Given the description of an element on the screen output the (x, y) to click on. 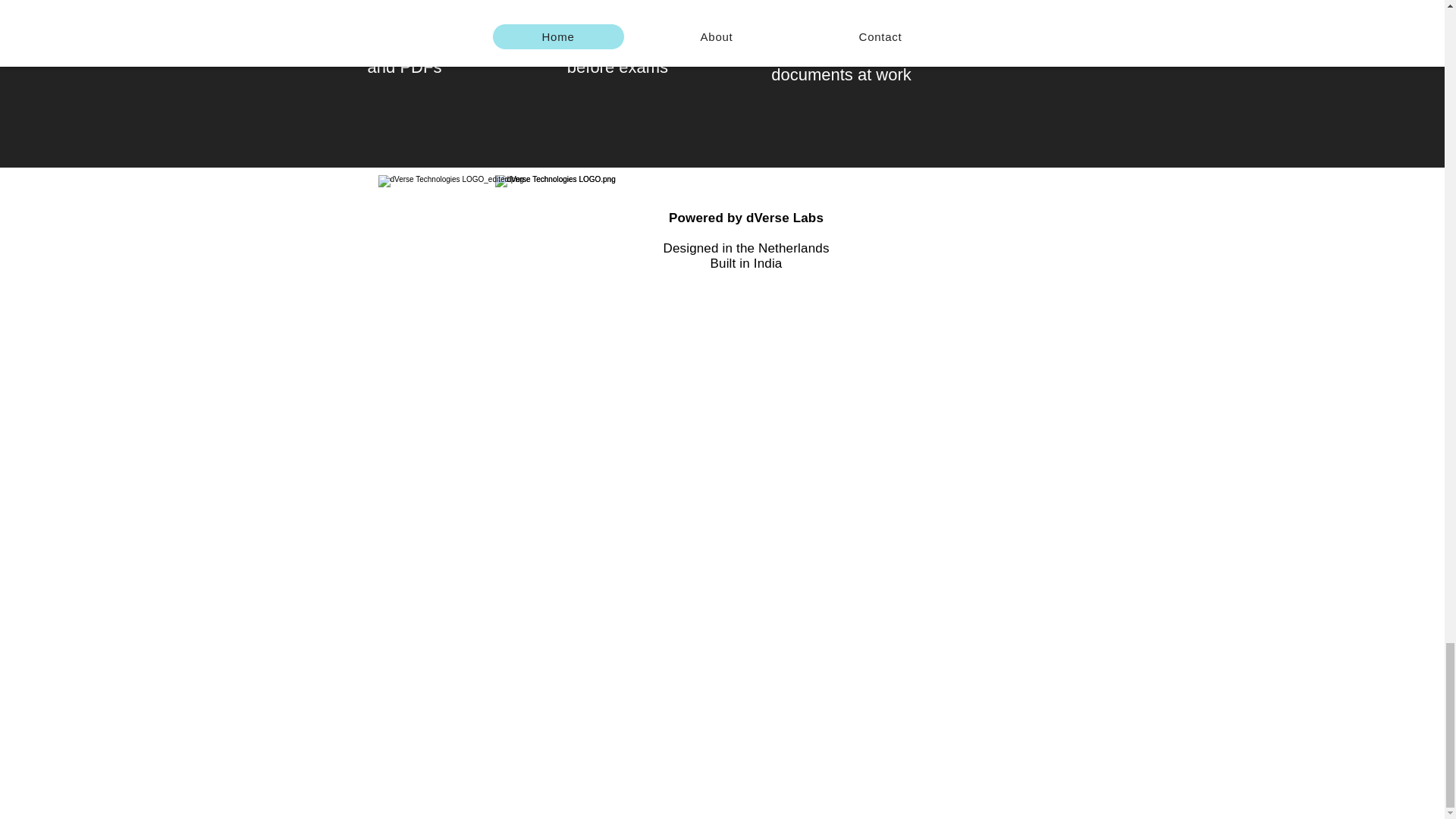
dVerse Technologies LOGO.png (492, 229)
